Given the description of an element on the screen output the (x, y) to click on. 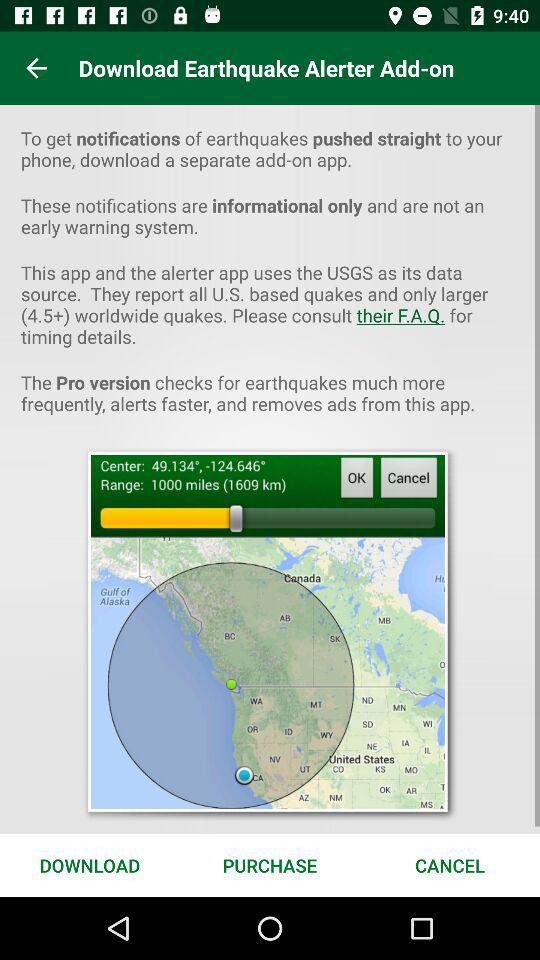
tap the item at the bottom right corner (450, 864)
